Given the description of an element on the screen output the (x, y) to click on. 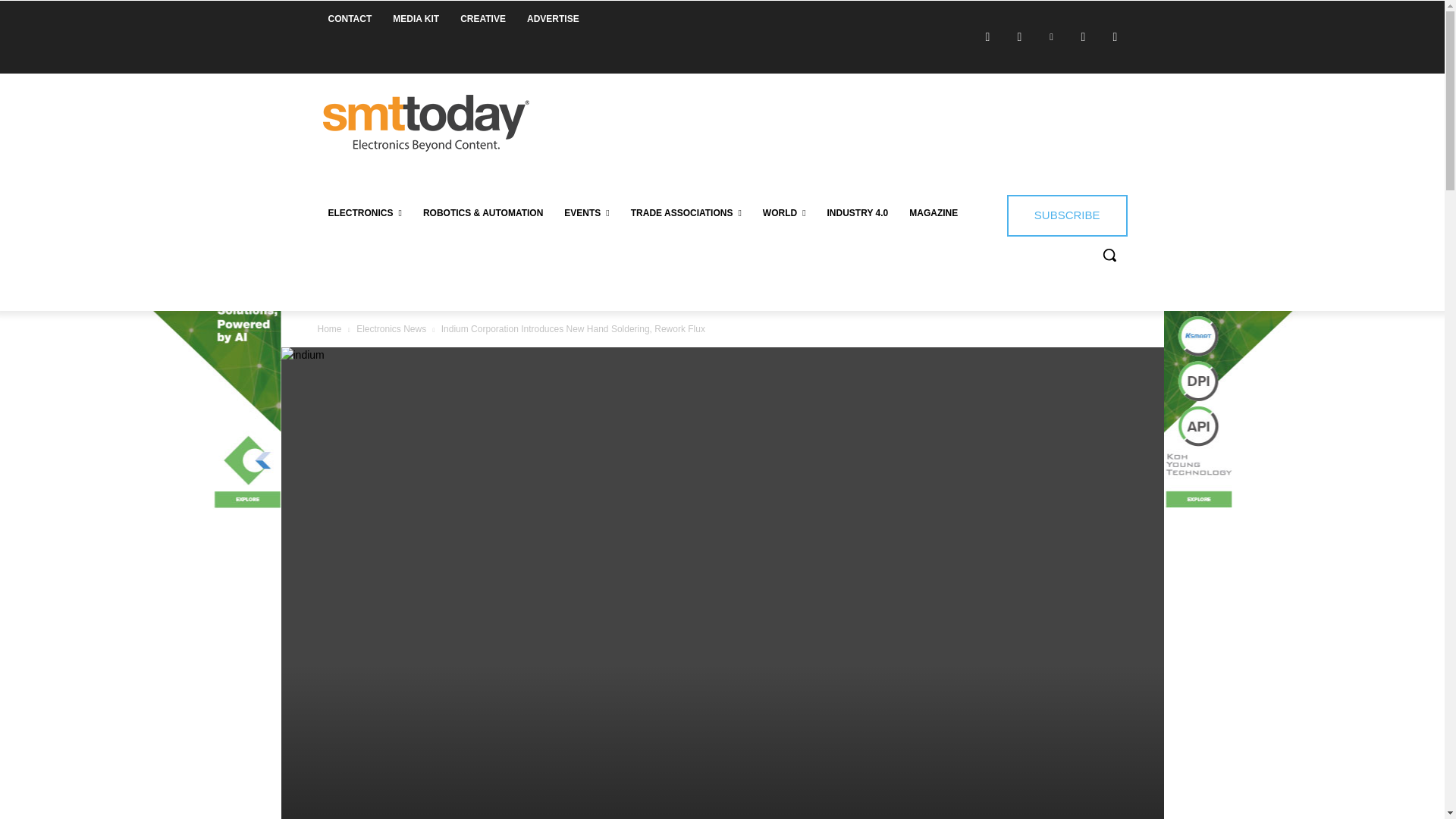
Facebook (986, 37)
SMT Today  Electronics Beyond Content (425, 123)
SMT Today  Electronics Beyond Content (426, 123)
SUBSCRIBE (1066, 215)
Instagram (1018, 37)
Youtube (1114, 37)
Linkedin (1050, 37)
Twitter (1082, 37)
MEDIA KIT (415, 18)
CONTACT (349, 18)
